Given the description of an element on the screen output the (x, y) to click on. 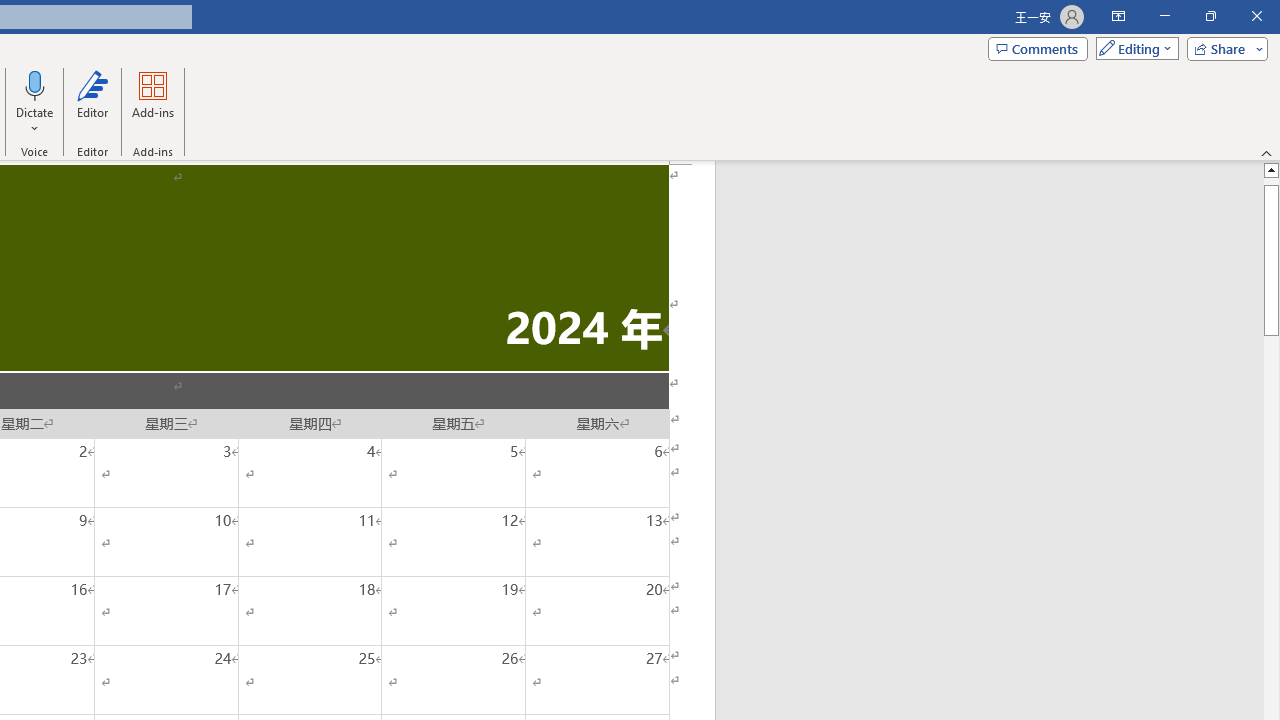
Line up (1271, 169)
Page up (1271, 181)
